Given the description of an element on the screen output the (x, y) to click on. 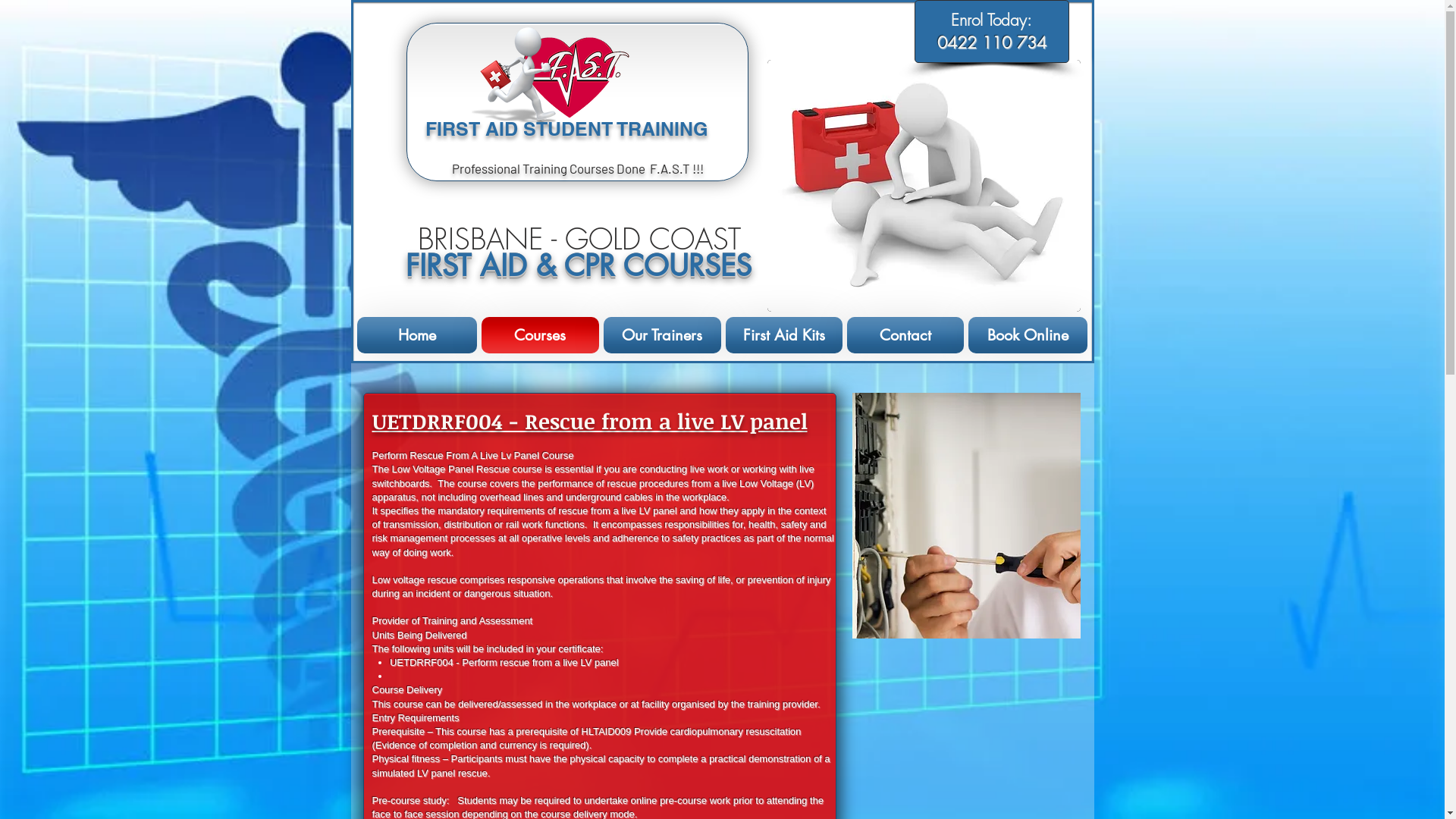
FAST LOGO (messy temp2).png Element type: hover (576, 79)
Home Element type: text (417, 334)
Our Trainers Element type: text (661, 334)
Book Online Element type: text (1026, 334)
Contact Element type: text (905, 334)
Courses Element type: text (540, 334)
First Aid Kits Element type: text (783, 334)
firstaid.png Element type: hover (923, 185)
